Given the description of an element on the screen output the (x, y) to click on. 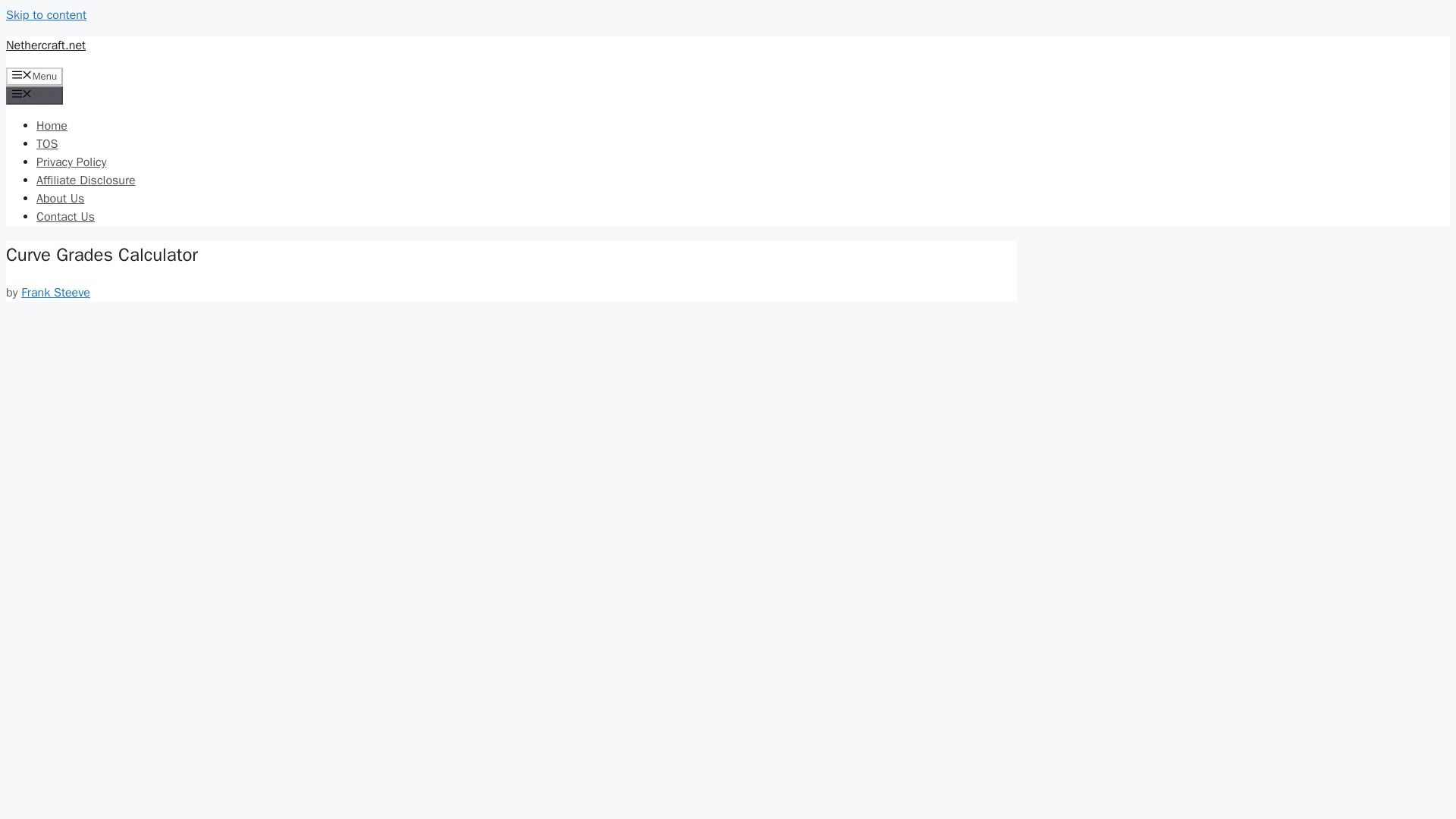
Home (51, 125)
Privacy Policy (71, 161)
Skip to content (45, 14)
Menu (33, 95)
Skip to content (45, 14)
Nethercraft.net (45, 45)
Affiliate Disclosure (85, 180)
Menu (33, 76)
Contact Us (65, 216)
About Us (60, 198)
